Given the description of an element on the screen output the (x, y) to click on. 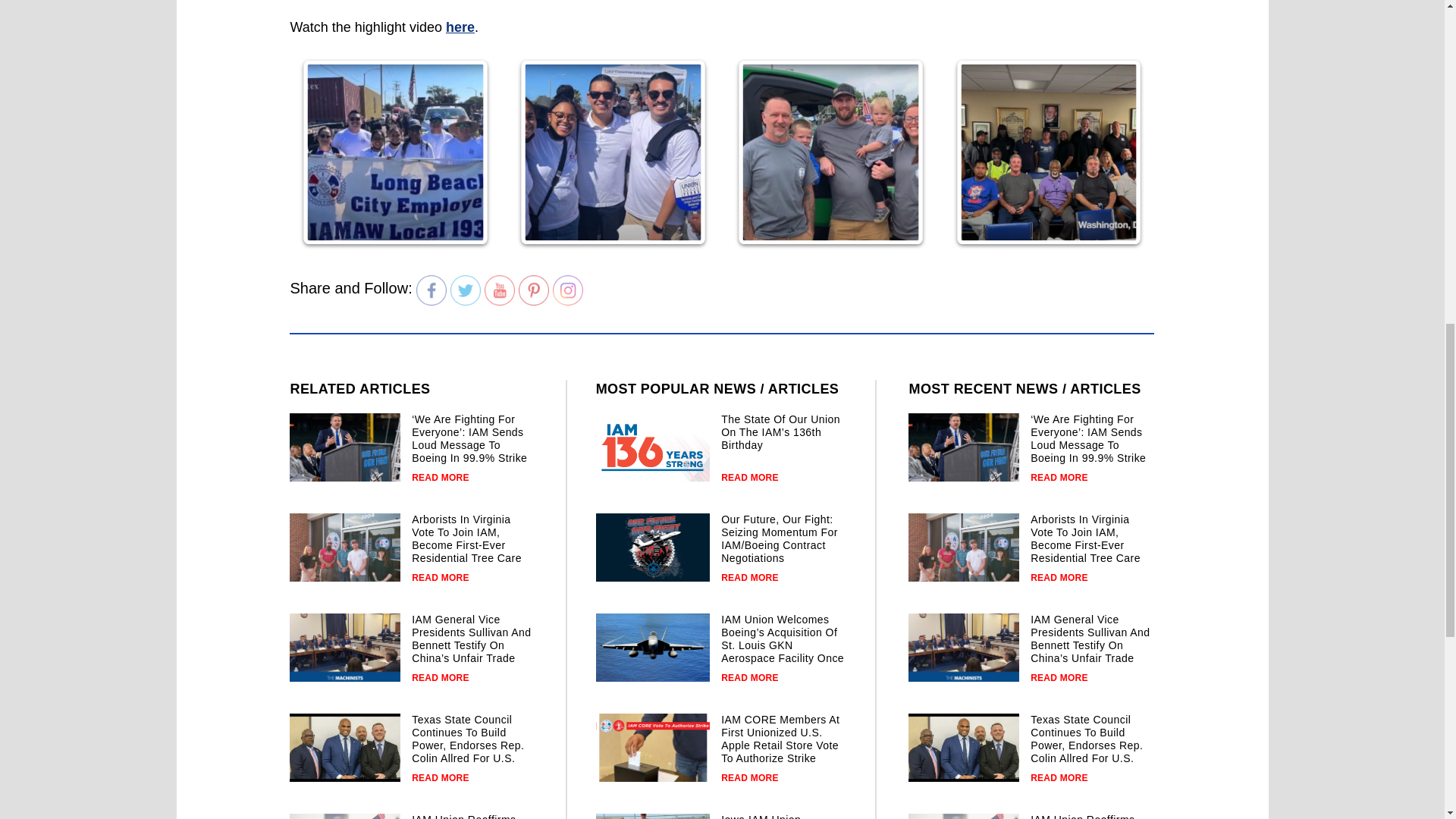
Instagram (568, 290)
Pinterest (533, 290)
here (459, 27)
YouTube (499, 290)
Twitter (464, 290)
Facebook (431, 290)
